Given the description of an element on the screen output the (x, y) to click on. 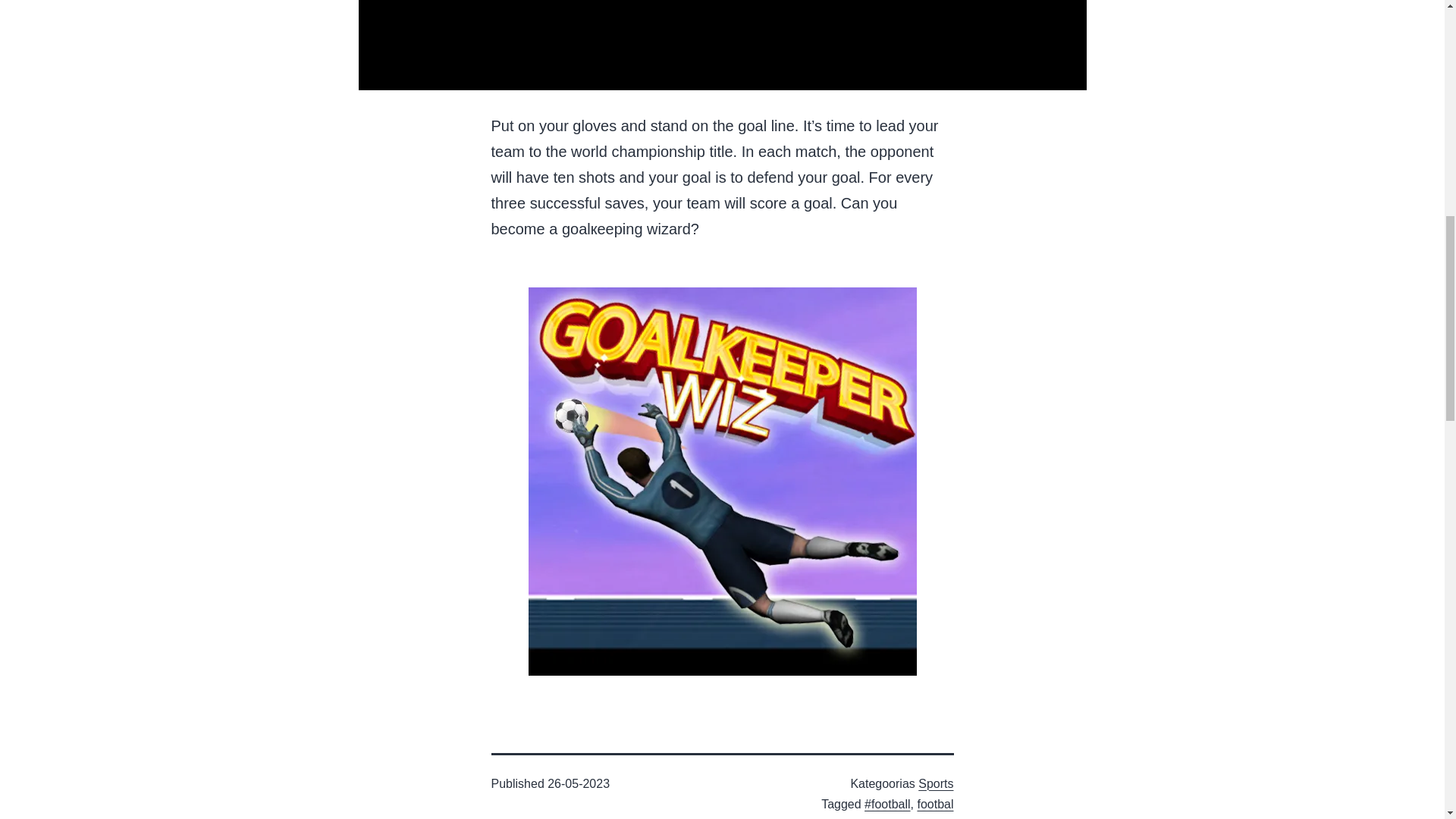
footbal (935, 803)
Sports (935, 783)
